Given the description of an element on the screen output the (x, y) to click on. 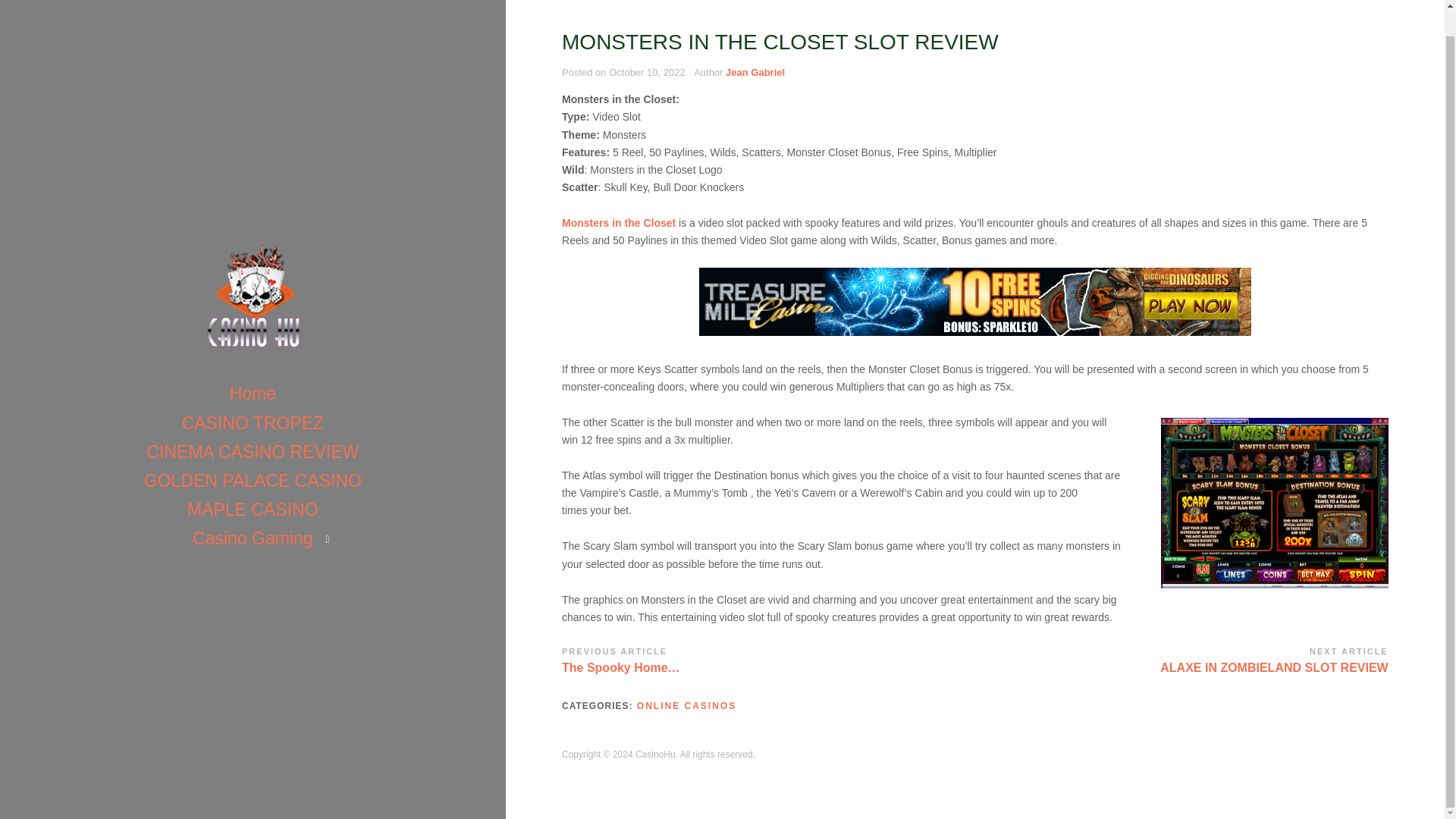
Jean Gabriel (754, 71)
Casino Gaming (252, 511)
CASINO TROPEZ (253, 396)
ONLINE CASINOS (686, 706)
Monsters in the Closet (618, 223)
MAPLE CASINO (252, 482)
CINEMA CASINO REVIEW (1182, 659)
Home (252, 425)
GOLDEN PALACE CASINO (252, 366)
